Given the description of an element on the screen output the (x, y) to click on. 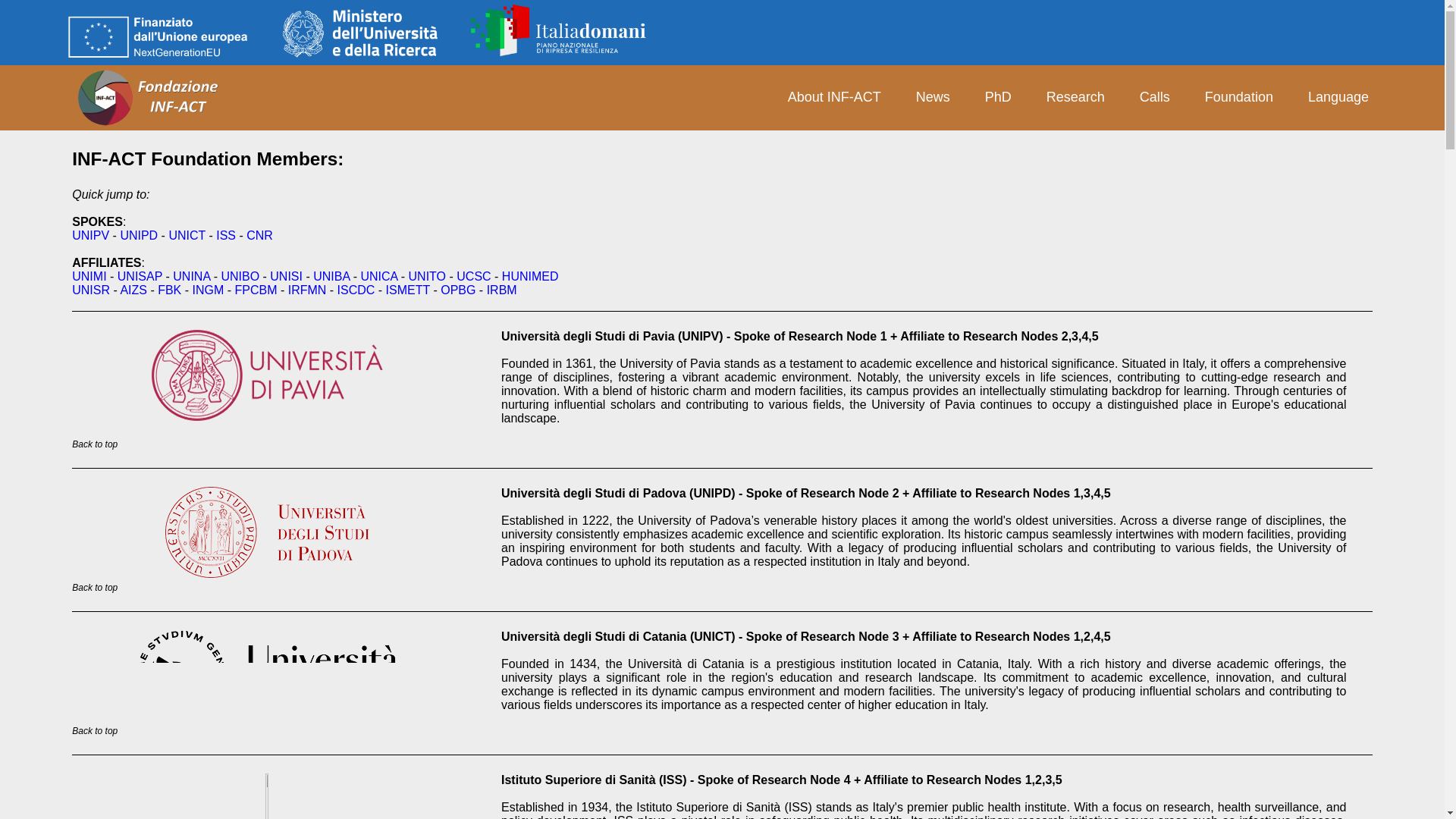
UNINA (191, 276)
UNITO (427, 276)
ISS (157, 37)
PNRR Italia Domani (225, 235)
UNIPV (563, 30)
UNIPD (90, 235)
UNIMI (138, 235)
MUR PNRR (88, 276)
UNISI (359, 32)
